Given the description of an element on the screen output the (x, y) to click on. 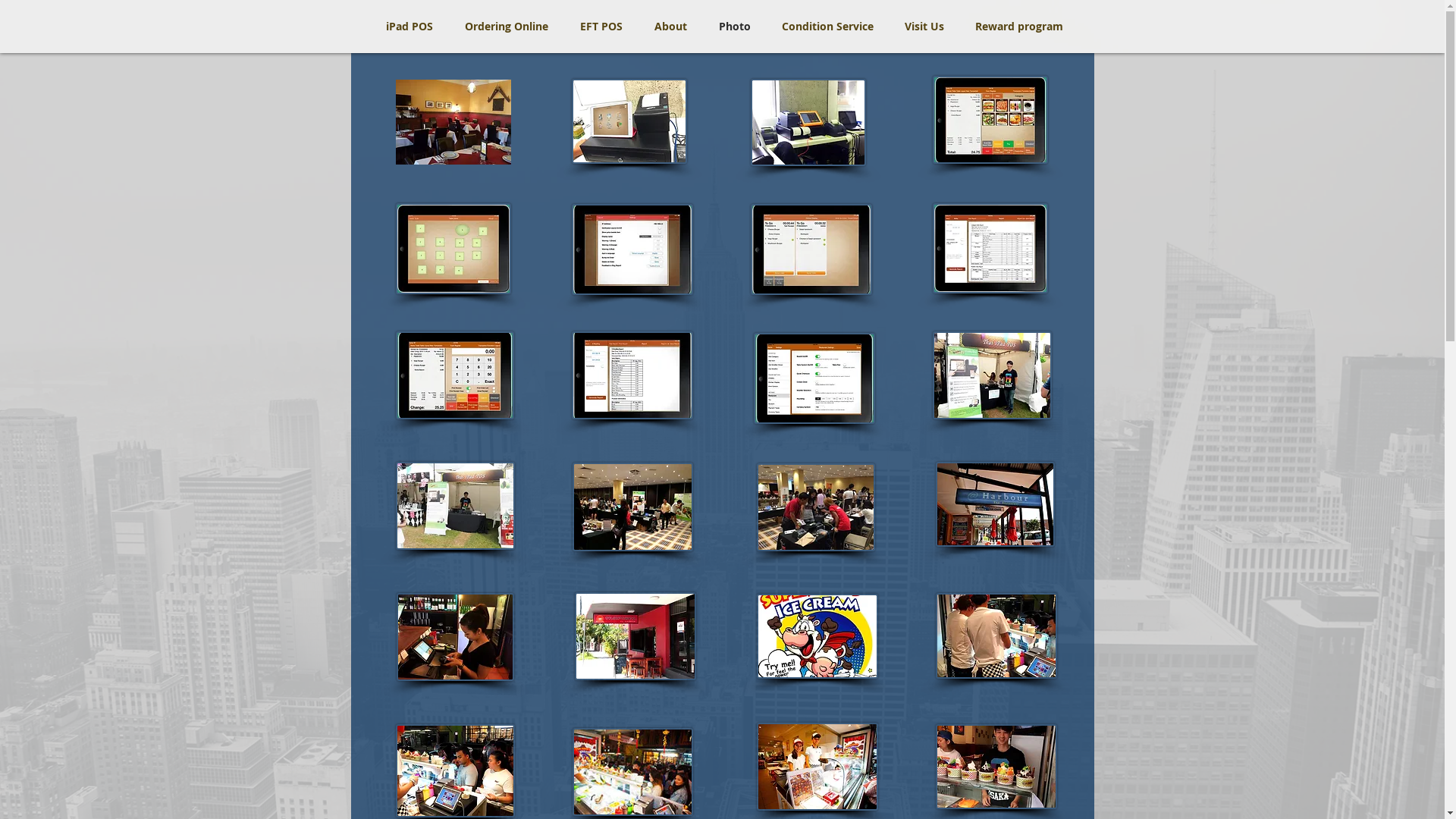
14.jpg Element type: hover (994, 503)
Photo Element type: text (733, 26)
About Element type: text (670, 26)
16.jpg Element type: hover (635, 636)
20.jpg Element type: hover (631, 771)
17.jpg Element type: hover (817, 635)
18.jpg Element type: hover (996, 635)
21.jpg Element type: hover (817, 766)
Ordering Online Element type: text (506, 26)
Condition Service Element type: text (826, 26)
Visit Us Element type: text (923, 26)
3.jpg Element type: hover (808, 122)
Reward program Element type: text (1019, 26)
22.jpg Element type: hover (996, 766)
12.jpg Element type: hover (991, 375)
iPad POS Element type: text (409, 26)
19.jpg Element type: hover (454, 770)
13.jpg Element type: hover (631, 506)
15.jpg Element type: hover (454, 636)
EFT POS Element type: text (601, 26)
